Given the description of an element on the screen output the (x, y) to click on. 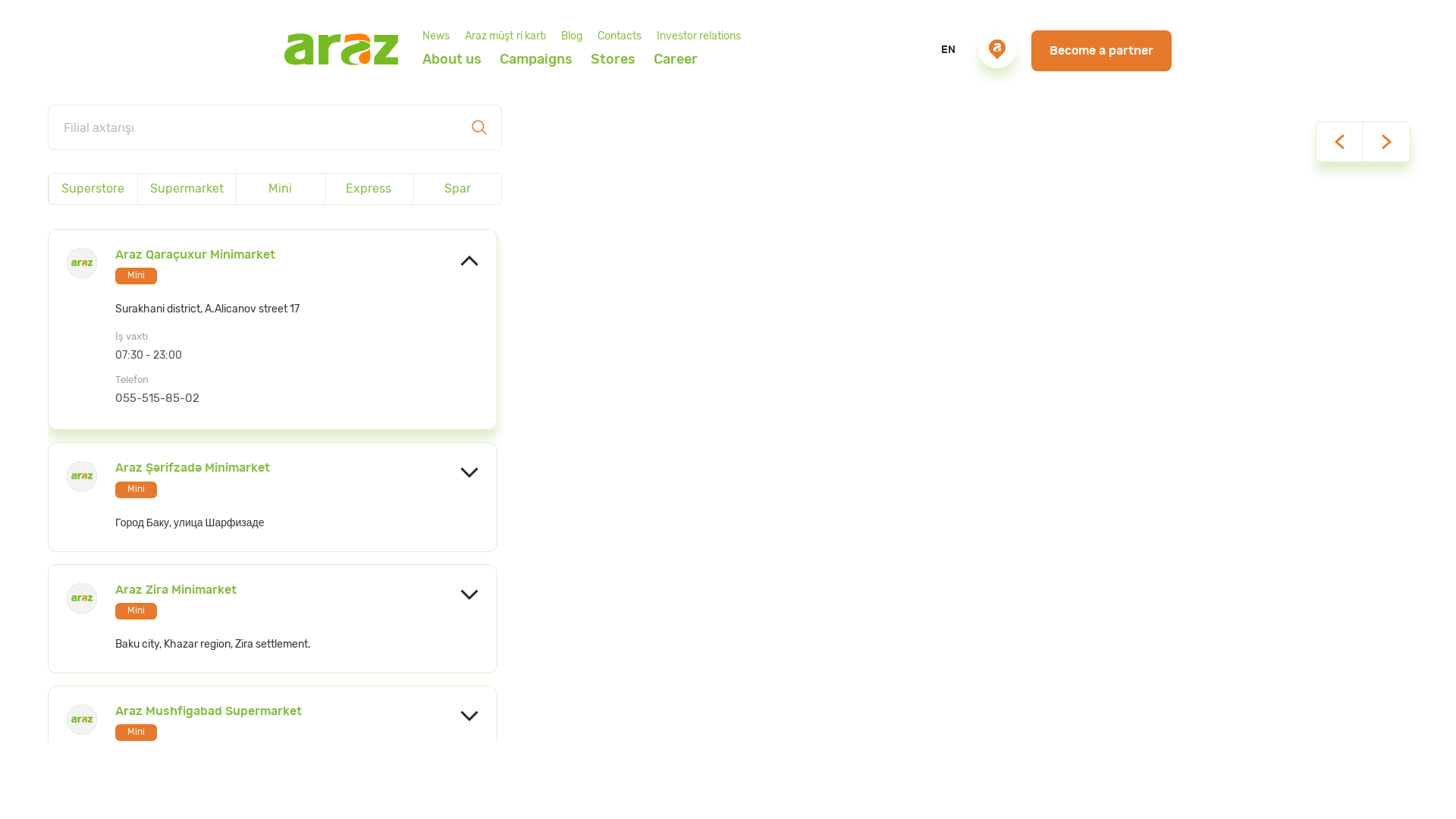
Blog Element type: text (571, 35)
Stores Element type: text (997, 49)
About us Element type: text (451, 58)
Campaigns Element type: text (535, 58)
Career Element type: text (675, 58)
Investor relations Element type: text (698, 35)
Stores Element type: text (612, 61)
Contacts Element type: text (619, 35)
News Element type: text (435, 35)
